Given the description of an element on the screen output the (x, y) to click on. 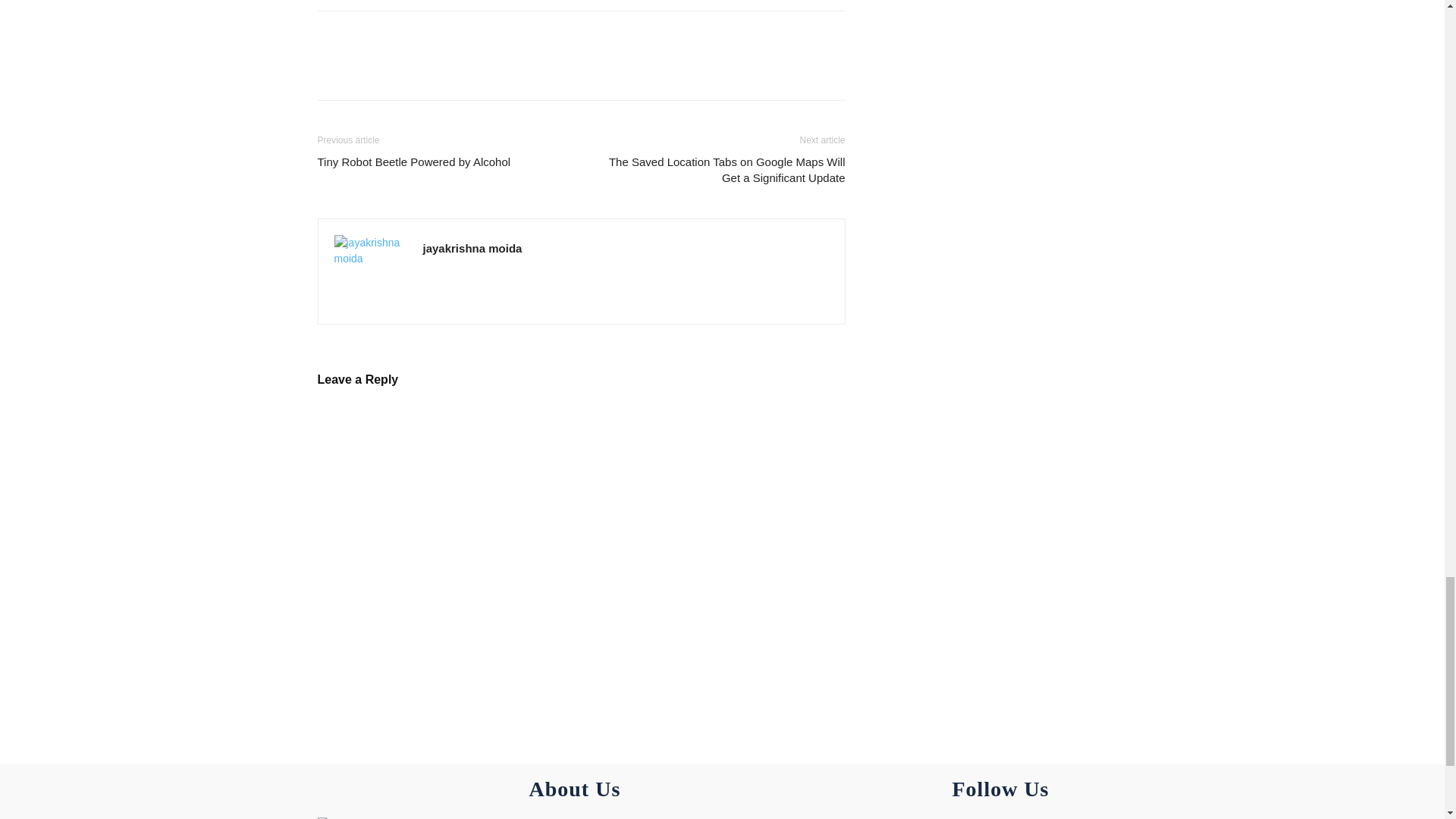
Tiny Robot Beetle Powered by Alcohol (414, 161)
bottomFacebookLike (430, 35)
jayakrishna moida (472, 247)
